Given the description of an element on the screen output the (x, y) to click on. 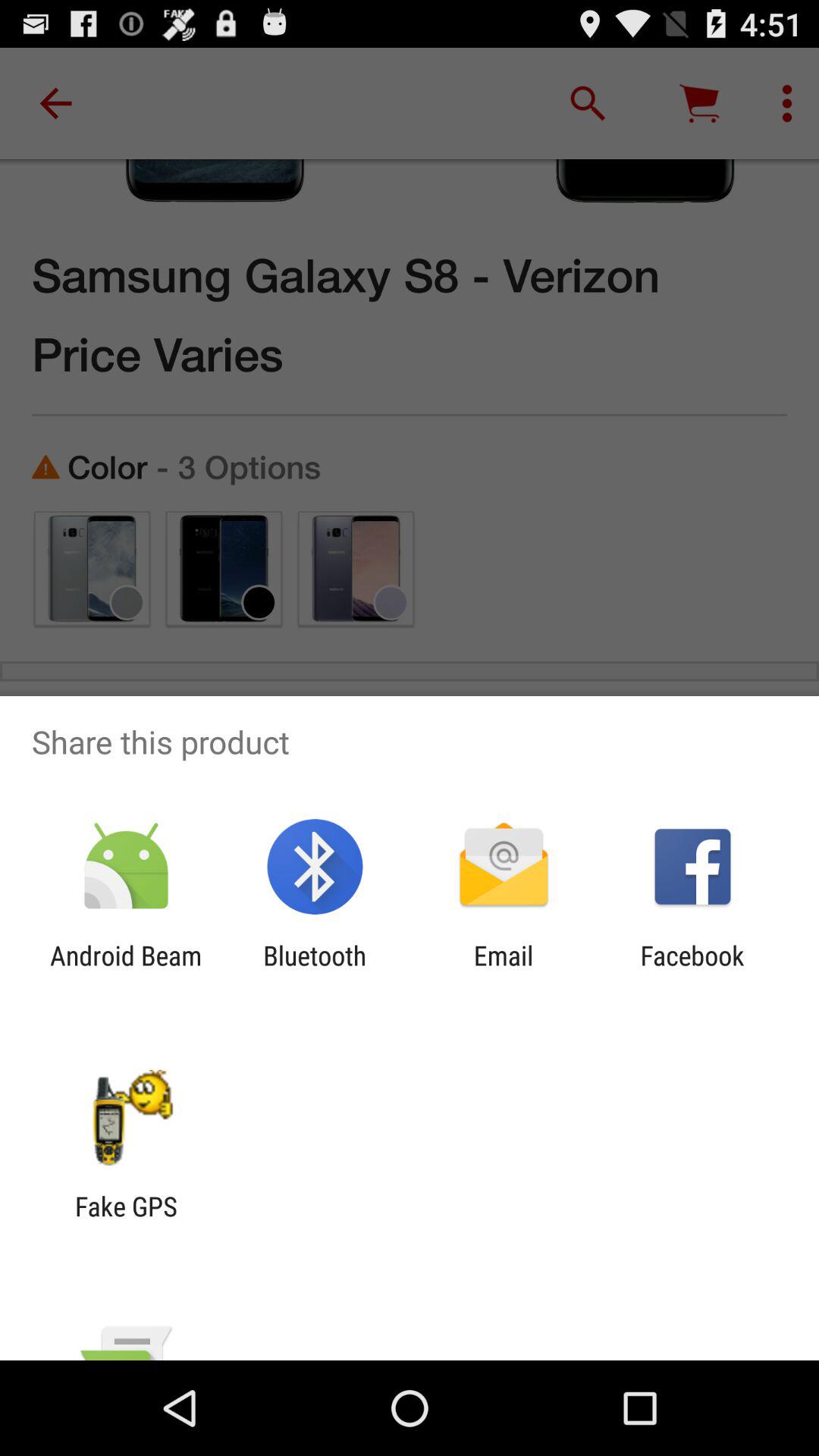
scroll until android beam item (125, 971)
